Given the description of an element on the screen output the (x, y) to click on. 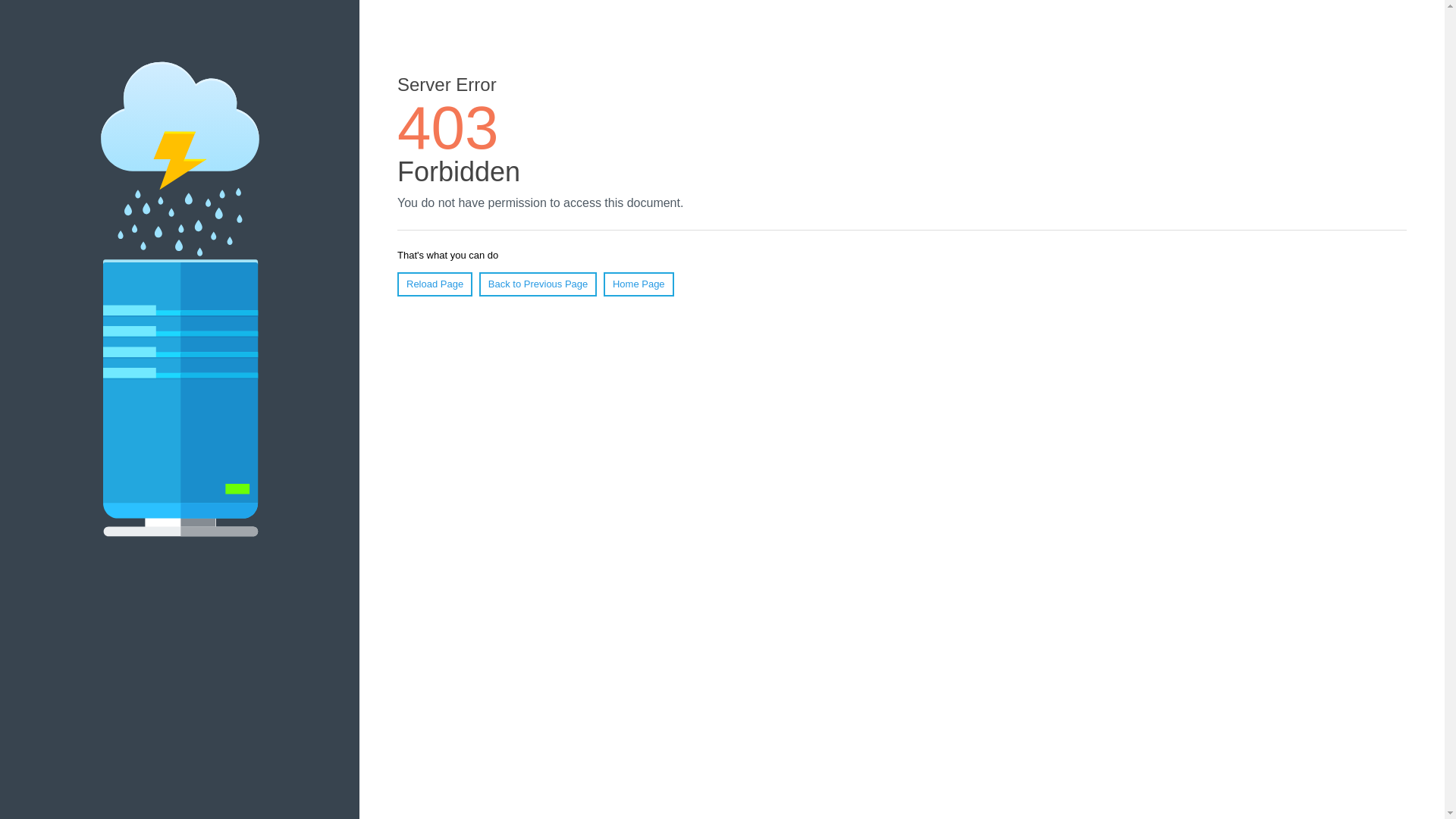
Home Page (639, 283)
Back to Previous Page (537, 283)
Reload Page (434, 283)
